Given the description of an element on the screen output the (x, y) to click on. 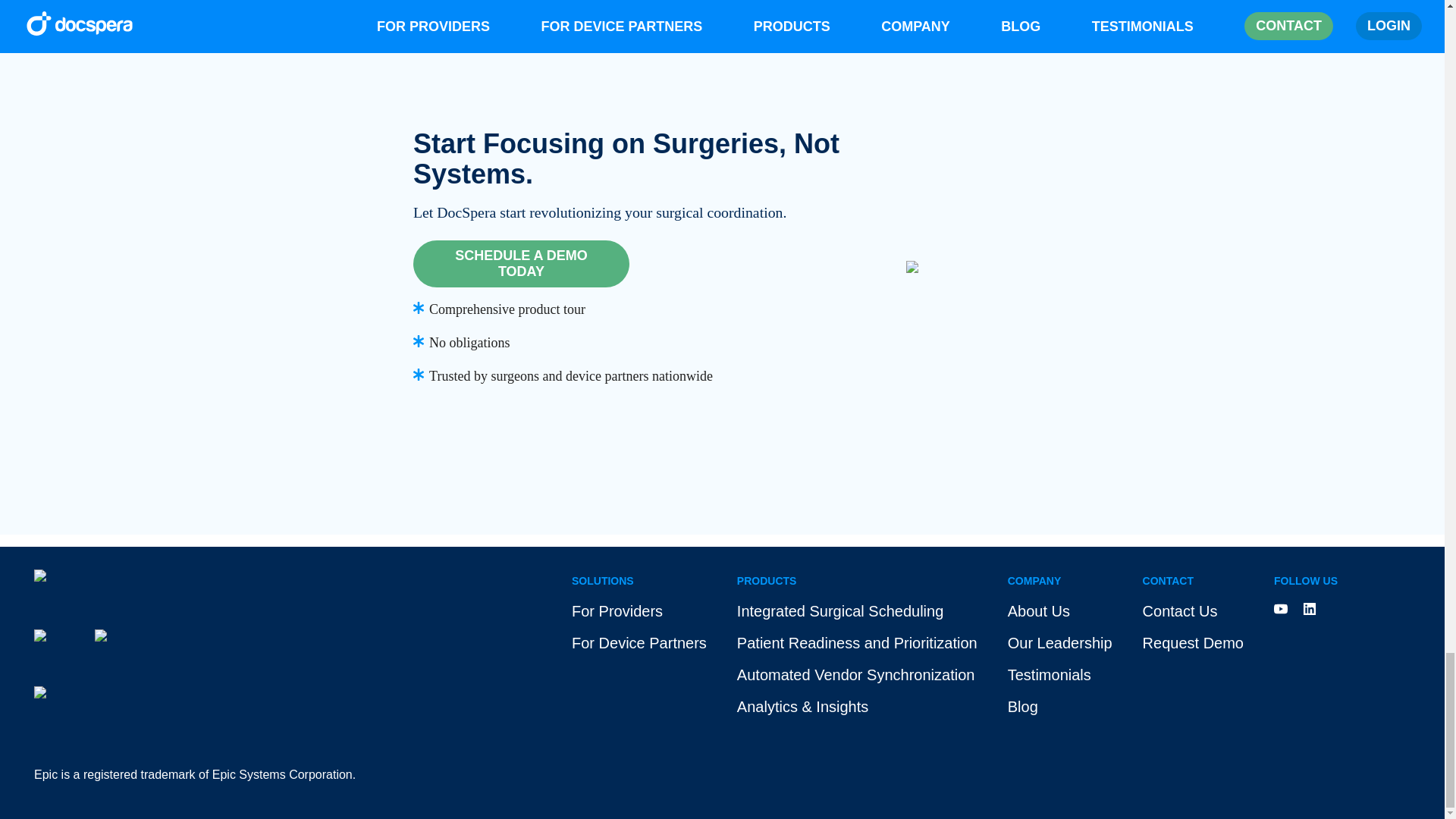
Contact Us (1192, 624)
For Device Partners (639, 642)
Patient Readiness and Prioritization (856, 642)
For Providers (617, 610)
SCHEDULE A DEMO TODAY (640, 263)
Automated Vendor Synchronization (856, 674)
Request Demo (1192, 642)
Blog (1022, 706)
SCHEDULE A DEMO TODAY (520, 263)
Our Leadership (1059, 642)
